Given the description of an element on the screen output the (x, y) to click on. 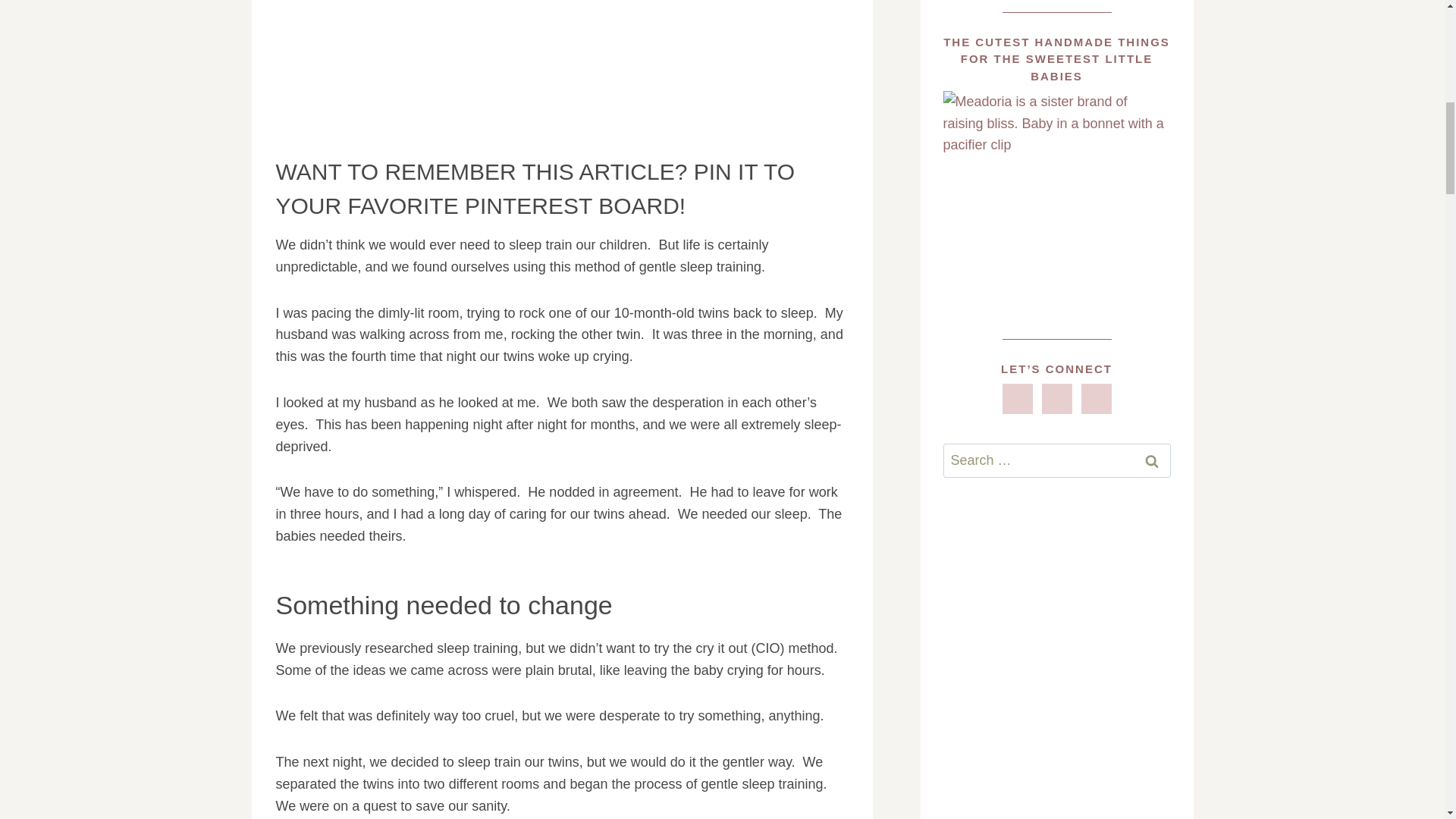
Search (1151, 460)
Search (1151, 460)
The Cutest Handmade Things for The Sweetest Little Babies (1056, 204)
